Given the description of an element on the screen output the (x, y) to click on. 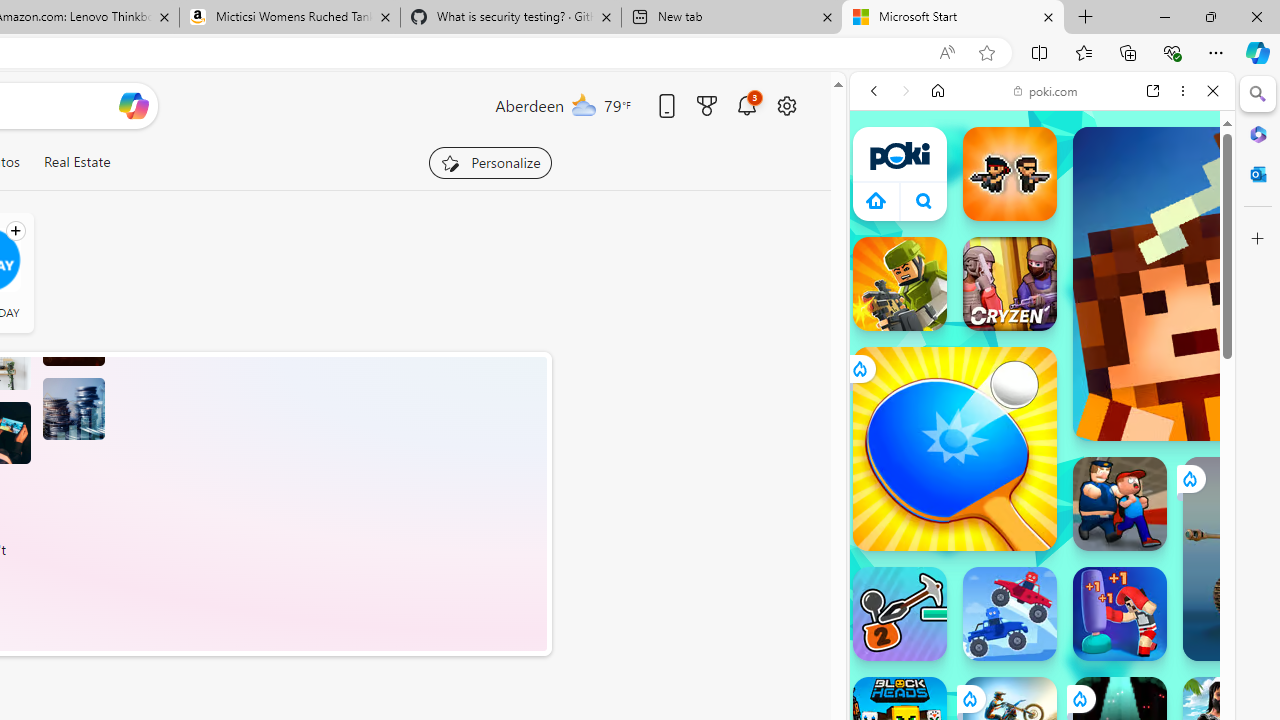
Car Games (1042, 469)
Cryzen.io (1009, 283)
Cryzen.io Cryzen.io (1009, 283)
Sports Games (1042, 666)
Sports Games (1042, 665)
Ping Pong Go! Ping Pong Go! (954, 448)
Class: rCs5cyEiqiTpYvt_VBCR (1079, 698)
